Given the description of an element on the screen output the (x, y) to click on. 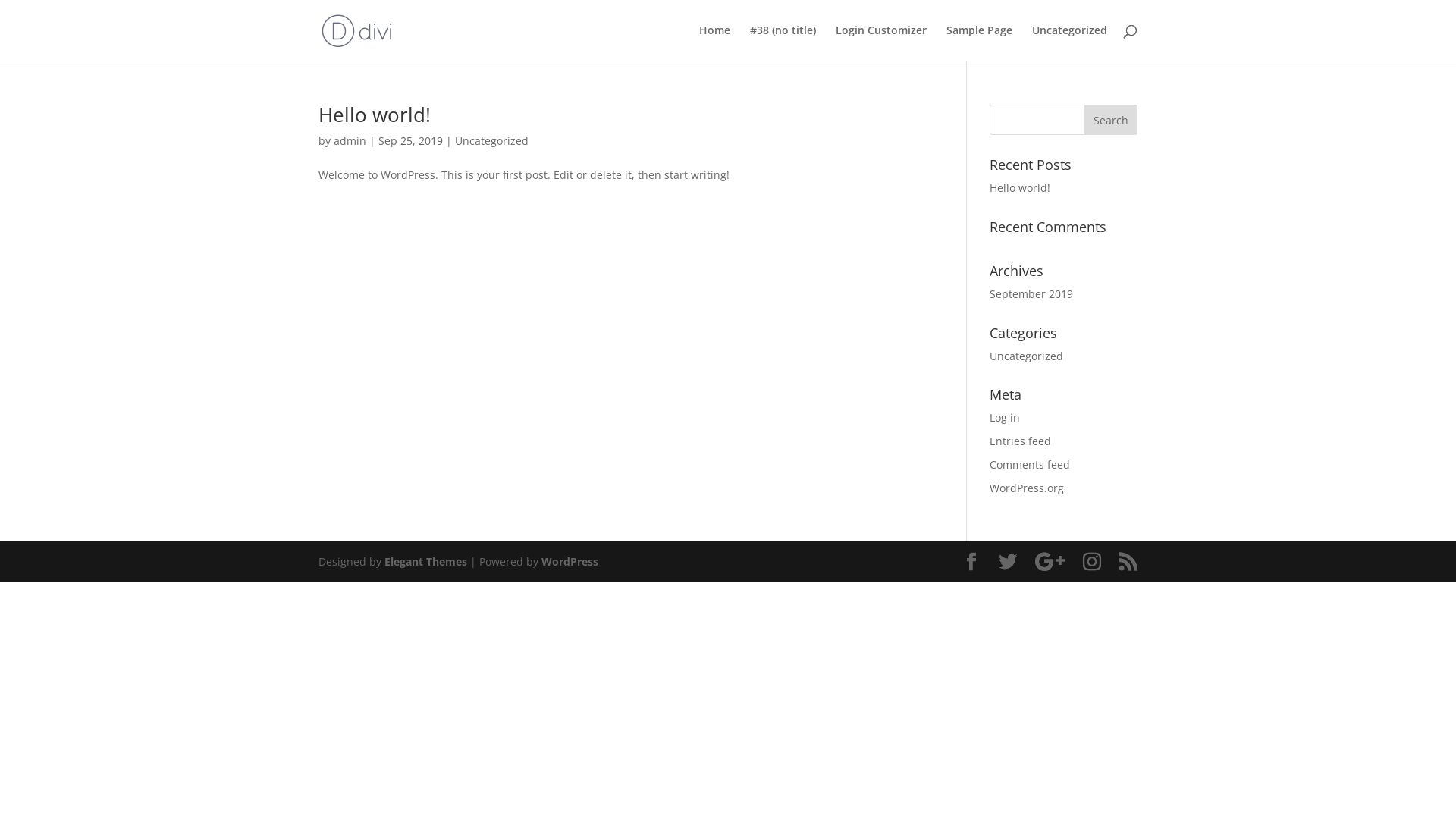
#38 (no title) Element type: text (782, 42)
Hello world! Element type: text (374, 114)
Search Element type: text (1110, 119)
Log in Element type: text (1004, 417)
WordPress Element type: text (569, 561)
Entries feed Element type: text (1020, 440)
Sample Page Element type: text (979, 42)
Comments feed Element type: text (1029, 464)
Uncategorized Element type: text (491, 140)
Hello world! Element type: text (1019, 187)
Login Customizer Element type: text (880, 42)
Uncategorized Element type: text (1069, 42)
Elegant Themes Element type: text (425, 561)
Home Element type: text (714, 42)
Uncategorized Element type: text (1026, 355)
September 2019 Element type: text (1031, 293)
WordPress.org Element type: text (1026, 487)
admin Element type: text (349, 140)
